Given the description of an element on the screen output the (x, y) to click on. 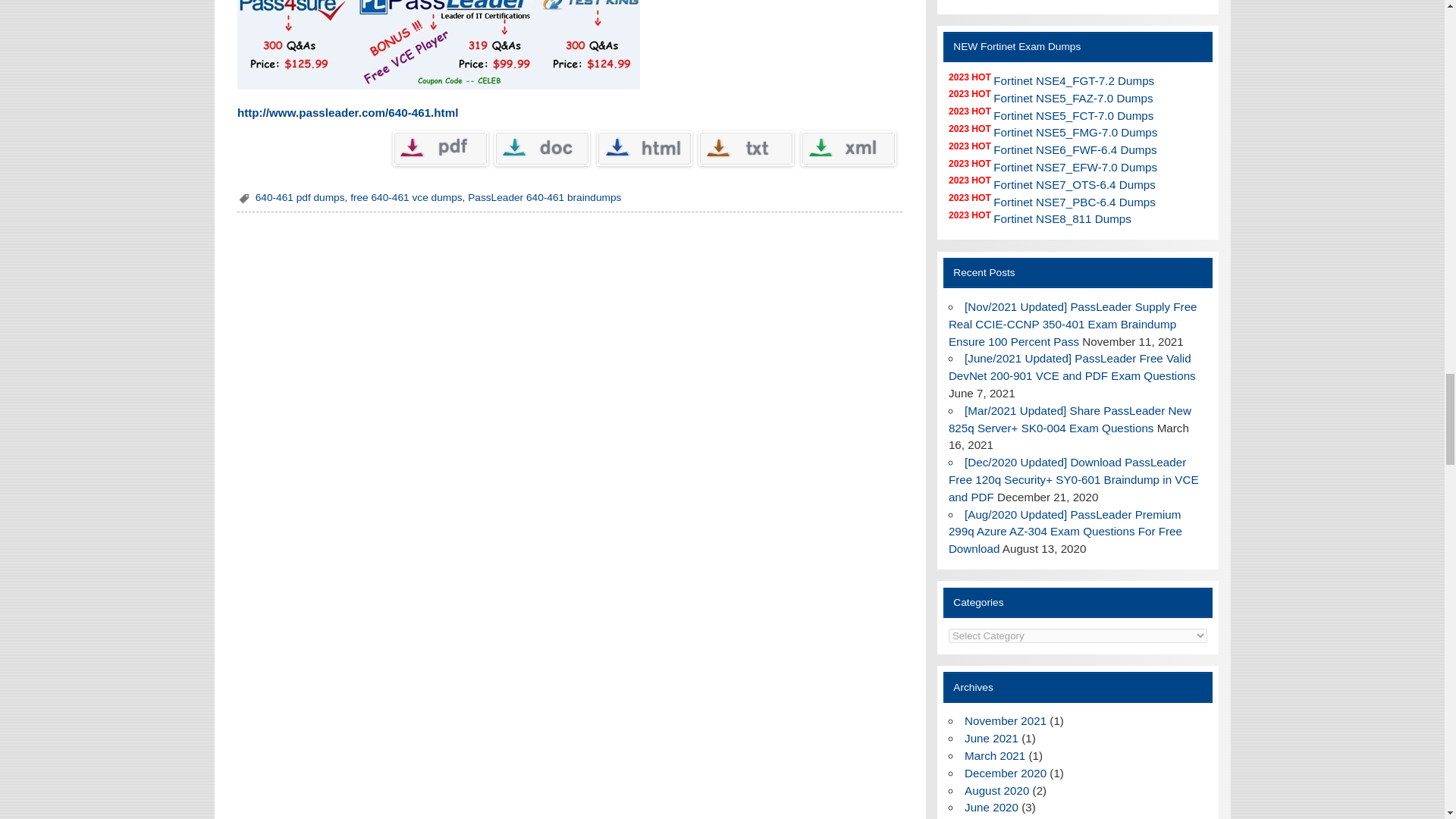
Save as Word Document (542, 148)
Save as PDF (440, 148)
Save as XML (848, 148)
free 640-461 vce dumps (405, 197)
PassLeader 640-461 braindumps (544, 197)
Save as HTML (644, 148)
640-461 pdf dumps (300, 197)
Save as Text (745, 148)
